Given the description of an element on the screen output the (x, y) to click on. 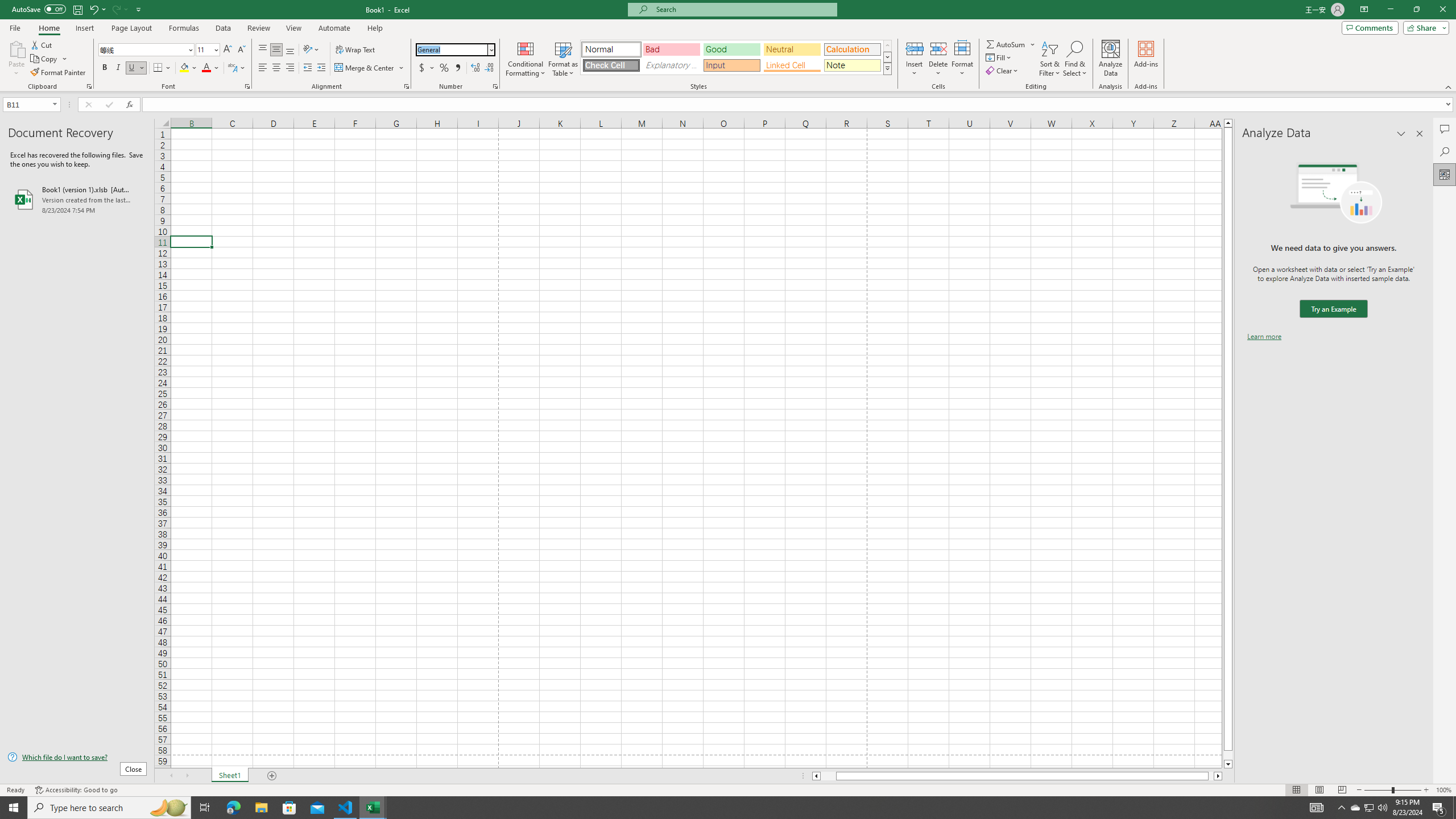
Merge & Center (369, 67)
Note (852, 65)
Show Phonetic Field (236, 67)
Format Cell Alignment (405, 85)
AutomationID: CellStylesGallery (736, 57)
Explanatory Text (671, 65)
Good (731, 49)
Borders (162, 67)
